Given the description of an element on the screen output the (x, y) to click on. 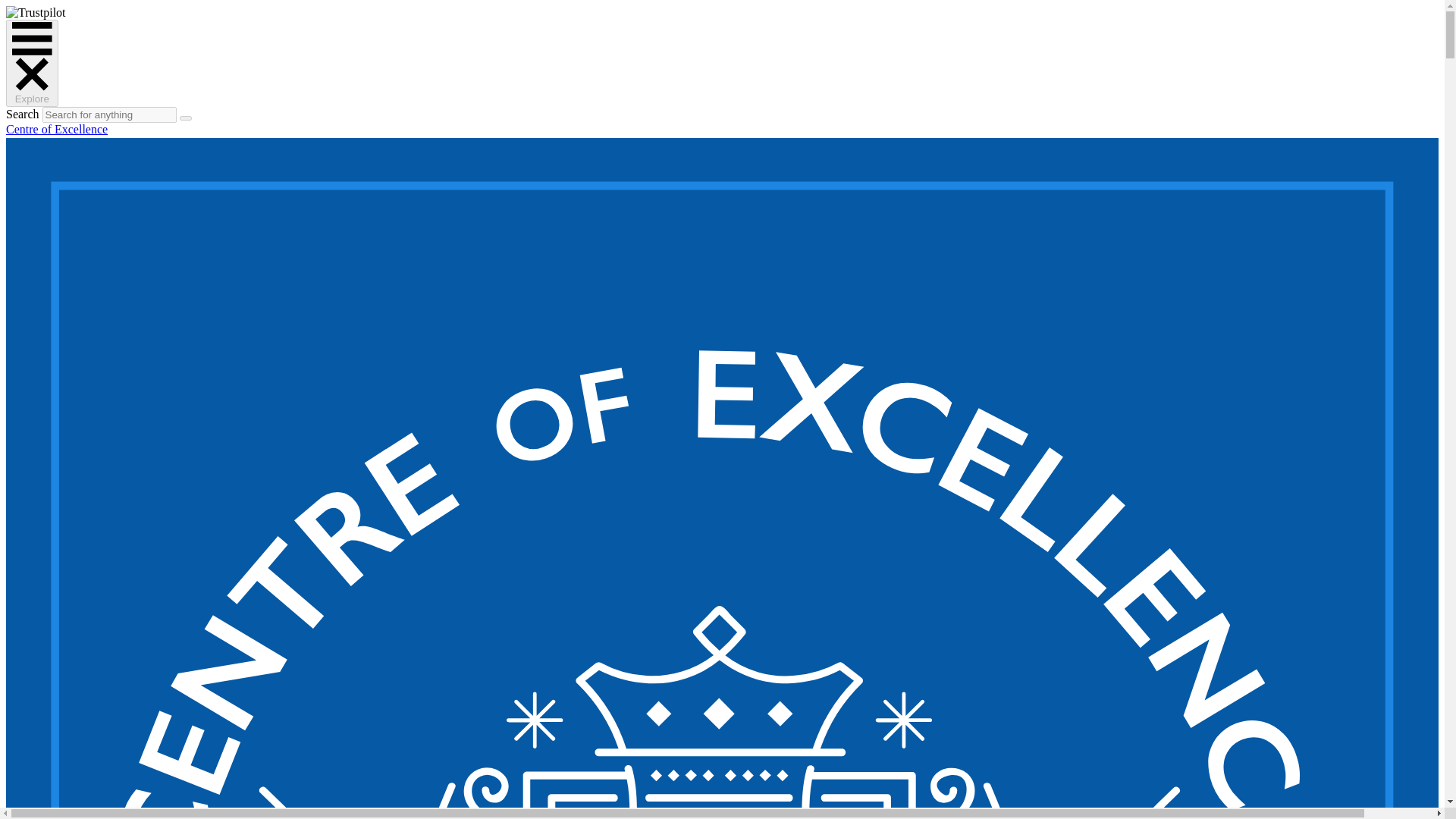
Explore (31, 63)
